Given the description of an element on the screen output the (x, y) to click on. 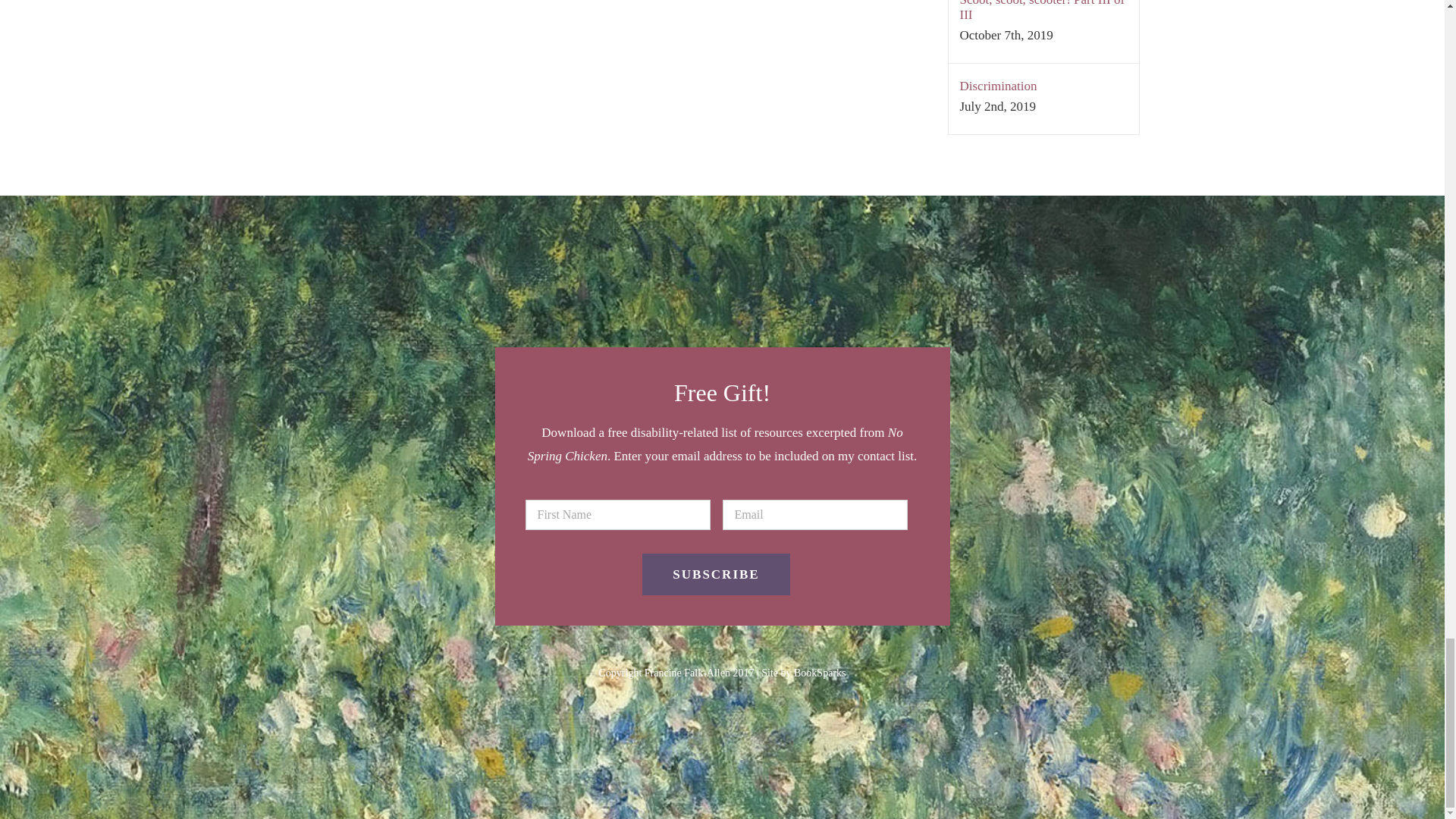
Subscribe (715, 574)
